Given the description of an element on the screen output the (x, y) to click on. 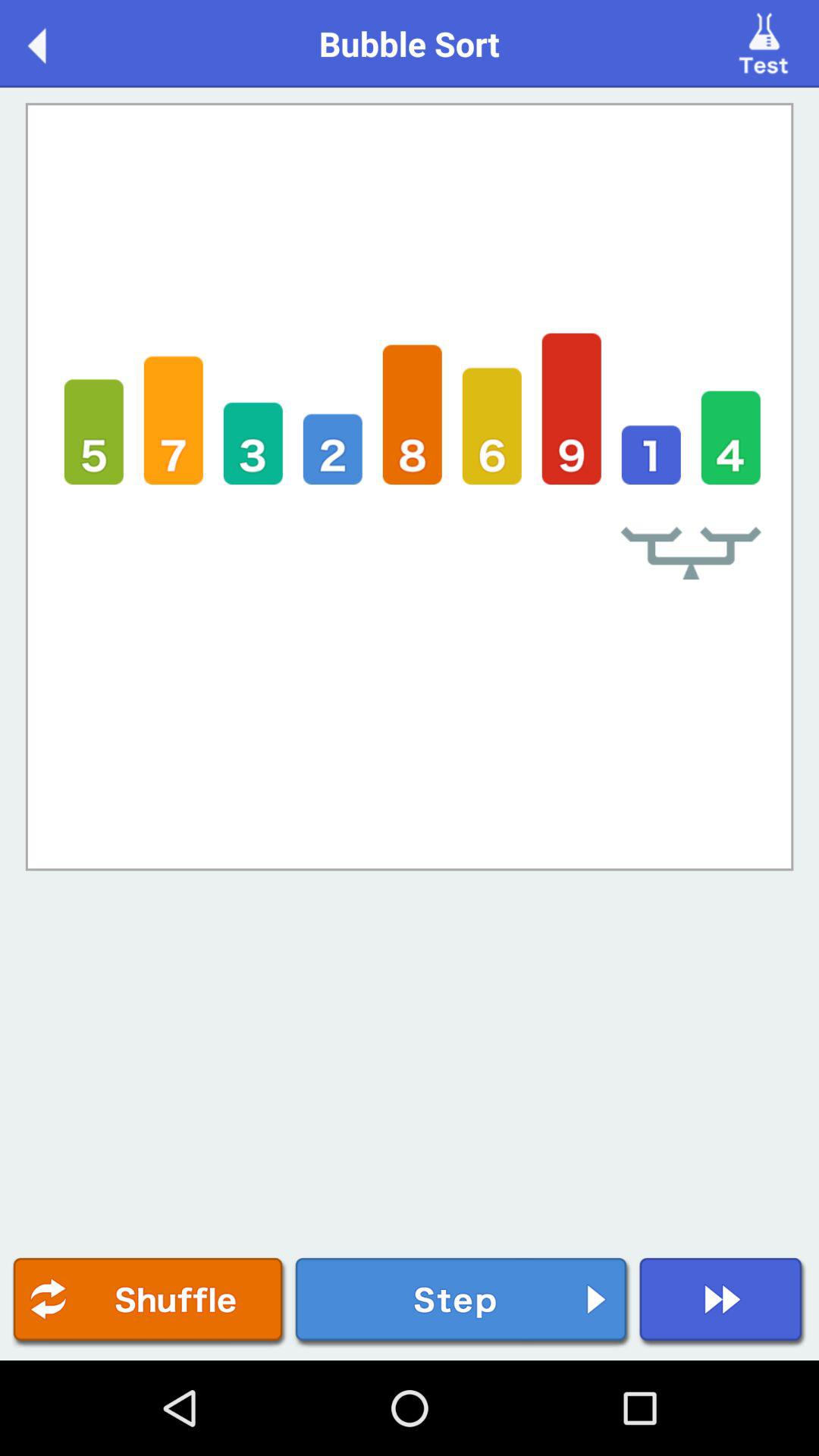
go back (52, 42)
